Given the description of an element on the screen output the (x, y) to click on. 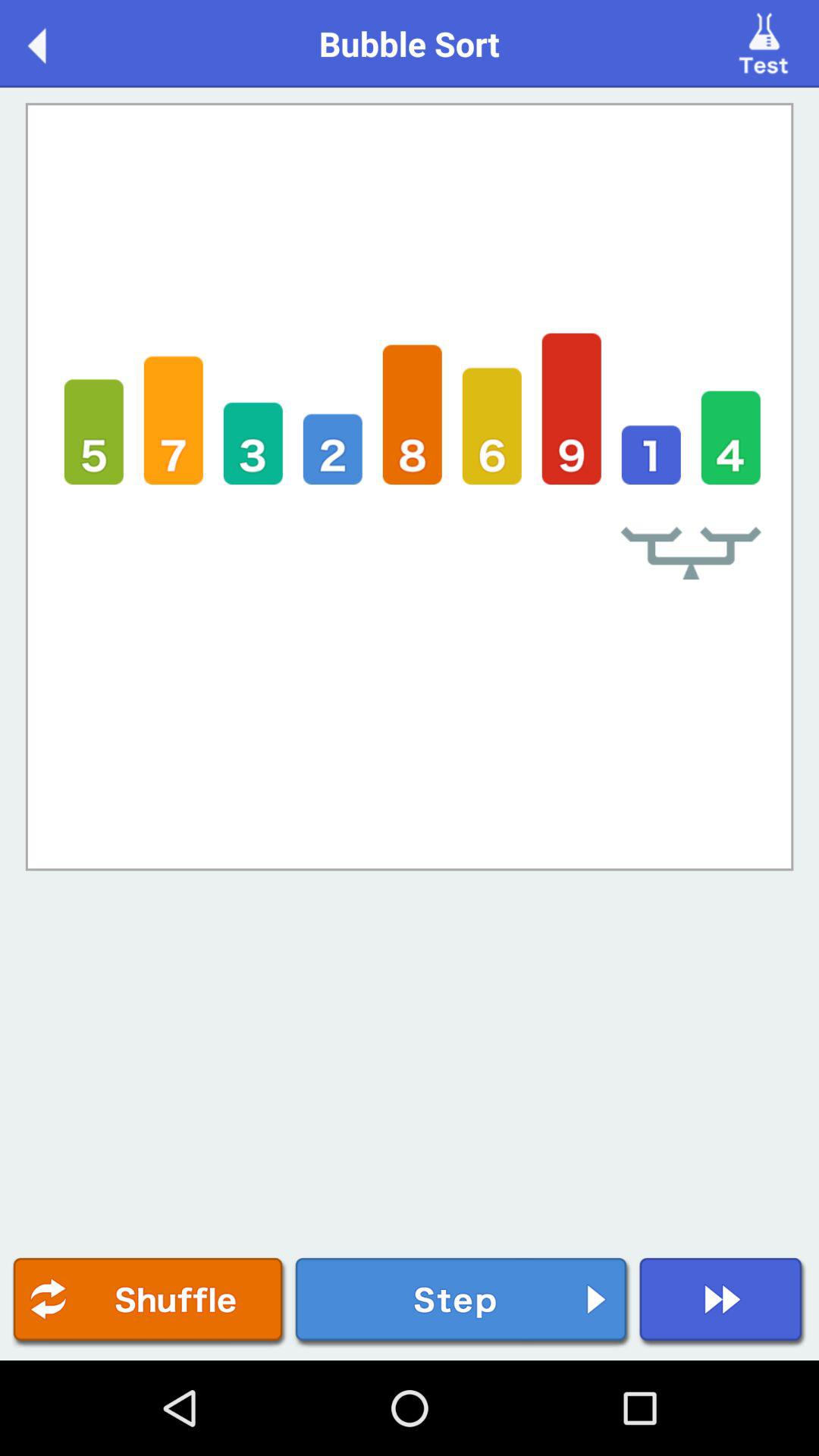
go back (52, 42)
